Given the description of an element on the screen output the (x, y) to click on. 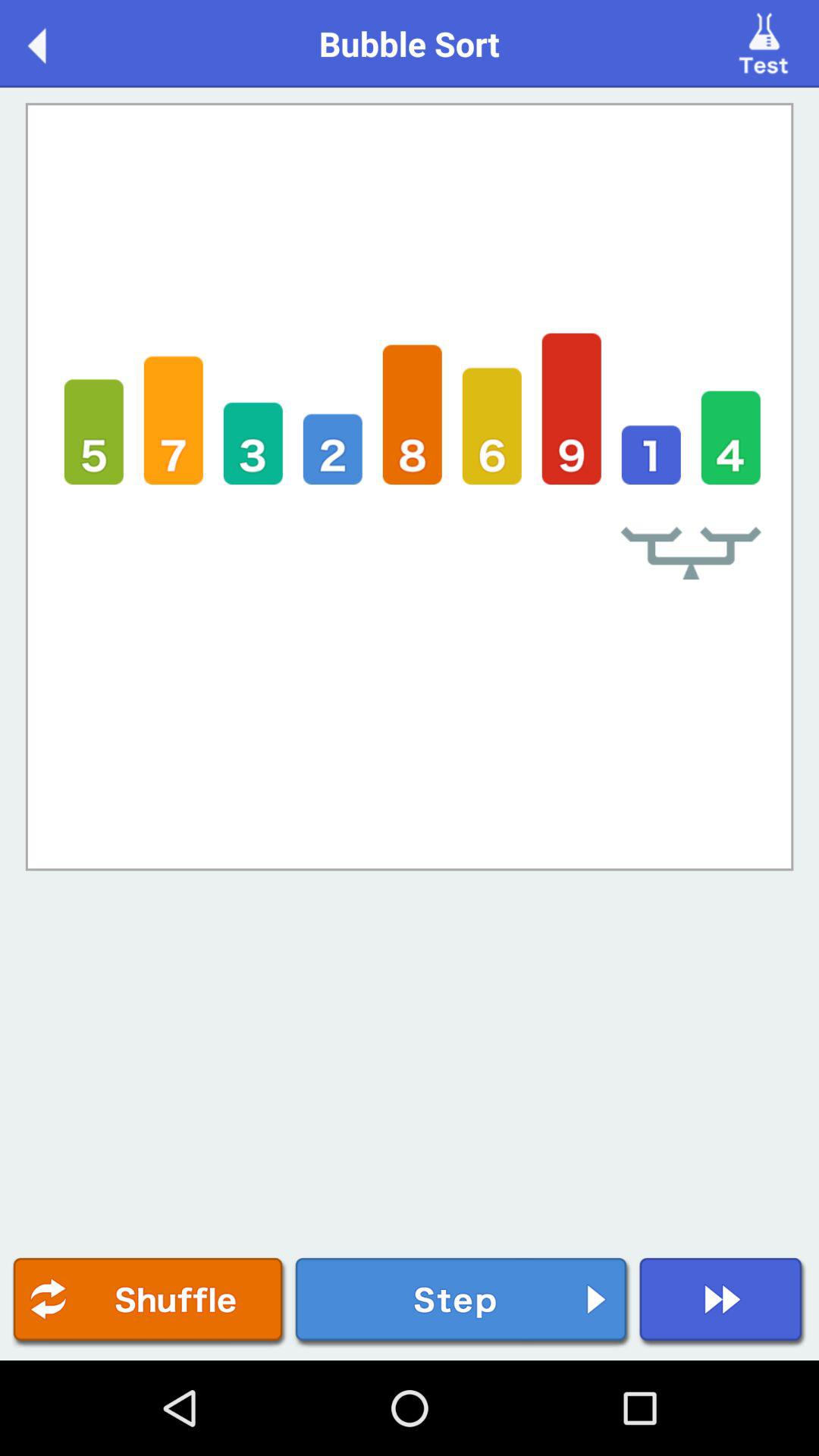
go back (52, 42)
